Given the description of an element on the screen output the (x, y) to click on. 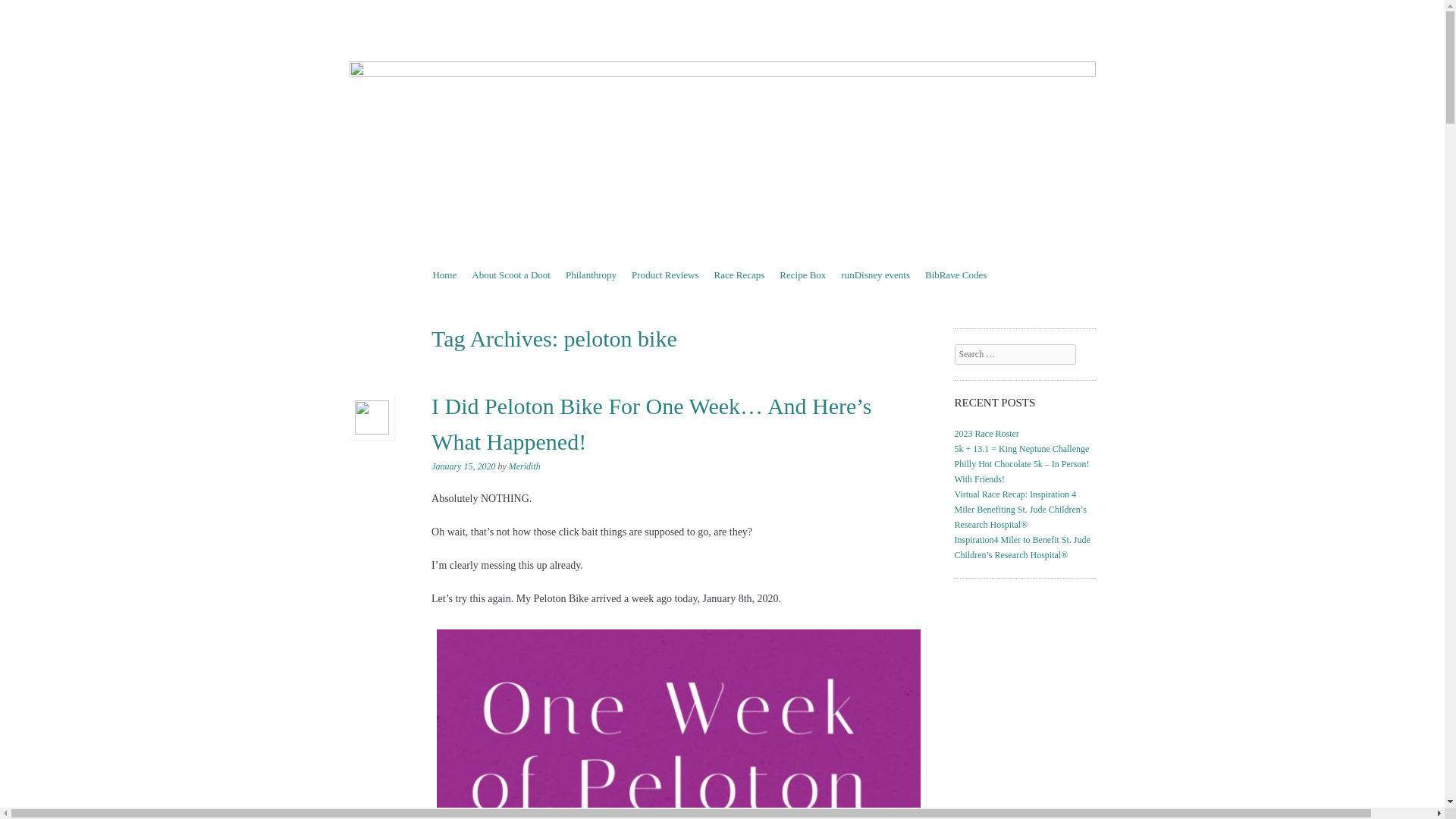
Philanthropy (590, 274)
Home (444, 274)
runDisney events (874, 274)
2023 Race Roster (987, 433)
Scootadoot (507, 55)
Product Reviews (665, 274)
January 15, 2020 (462, 466)
Recipe Box (801, 274)
Skip to content (462, 274)
Meridith (524, 466)
